Given the description of an element on the screen output the (x, y) to click on. 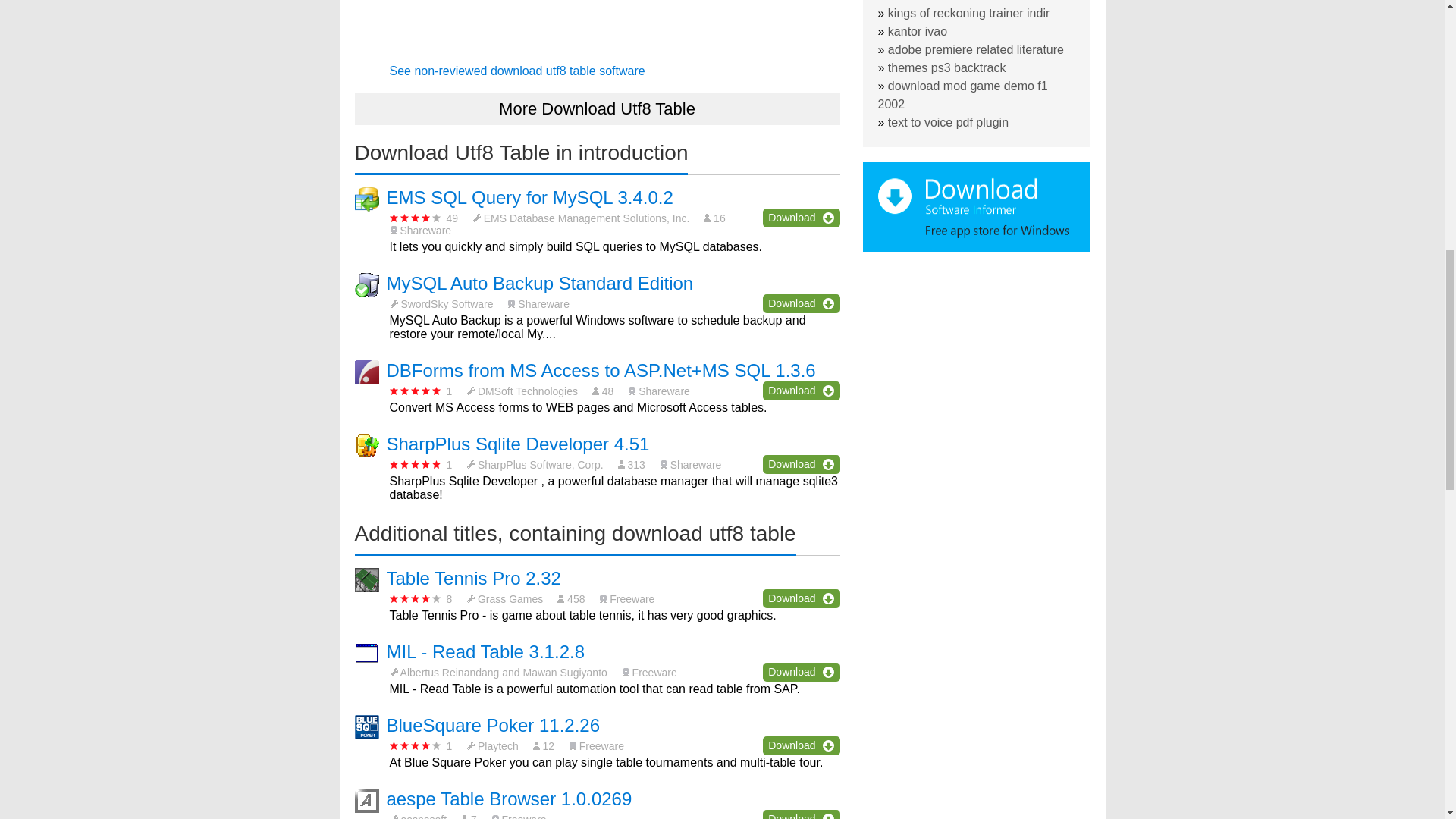
MySQL Auto Backup Standard Edition (540, 282)
aespe Table Browser 1.0.0269 (509, 798)
Download (801, 814)
Download (801, 671)
BlueSquare Poker 11.2.26 (493, 724)
Download (801, 303)
Download (801, 217)
SharpPlus Sqlite Developer 4.51 (518, 444)
Advertisement (597, 22)
Download (801, 464)
4.4 (415, 598)
aespe Table Browser 1.0.0269 (509, 798)
4 (415, 746)
EMS SQL Query for MySQL 3.4.0.2 (529, 197)
BlueSquare Poker 11.2.26 (493, 724)
